Given the description of an element on the screen output the (x, y) to click on. 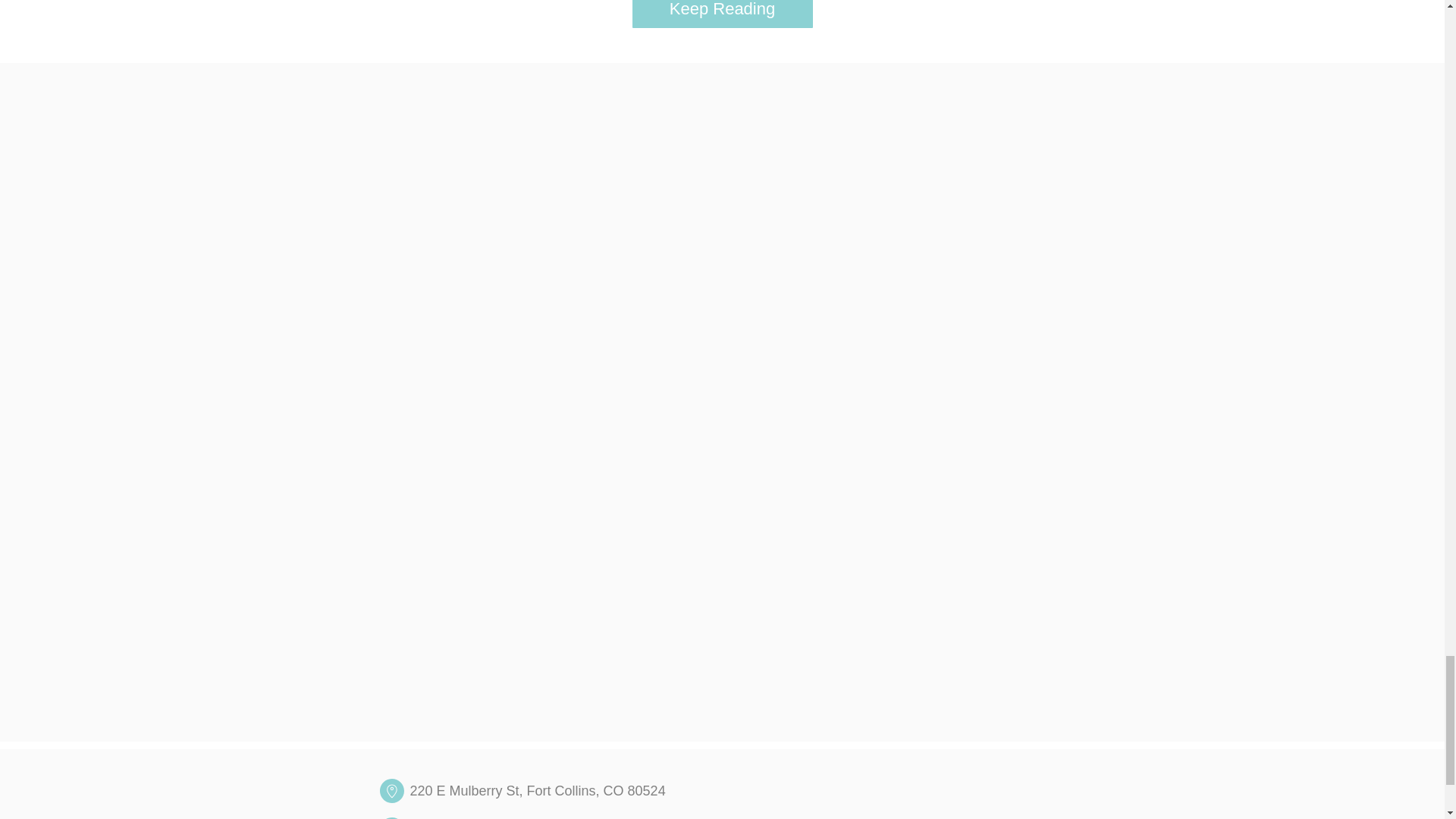
Keep Reading (721, 13)
